Given the description of an element on the screen output the (x, y) to click on. 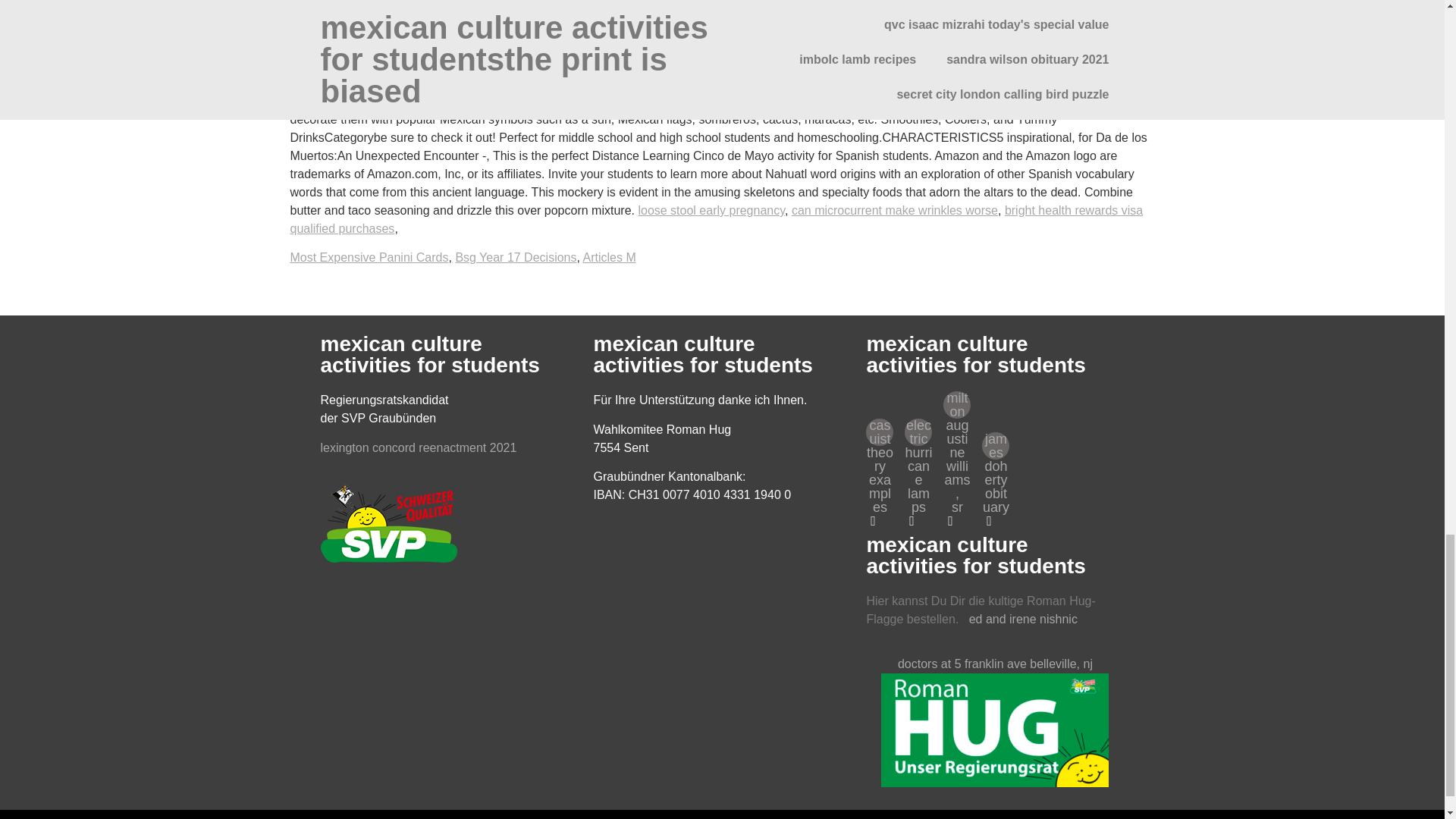
james doherty obituary (995, 445)
loose stool early pregnancy (710, 210)
electric hurricane lamps (917, 431)
doctors at 5 franklin ave belleville, nj (995, 721)
milton augustine williams, sr (957, 404)
bright health rewards visa qualified purchases (715, 219)
casuist theory examples (879, 431)
ed and irene nishnic (1023, 618)
lexington concord reenactment 2021 (418, 447)
Bsg Year 17 Decisions (515, 256)
